Given the description of an element on the screen output the (x, y) to click on. 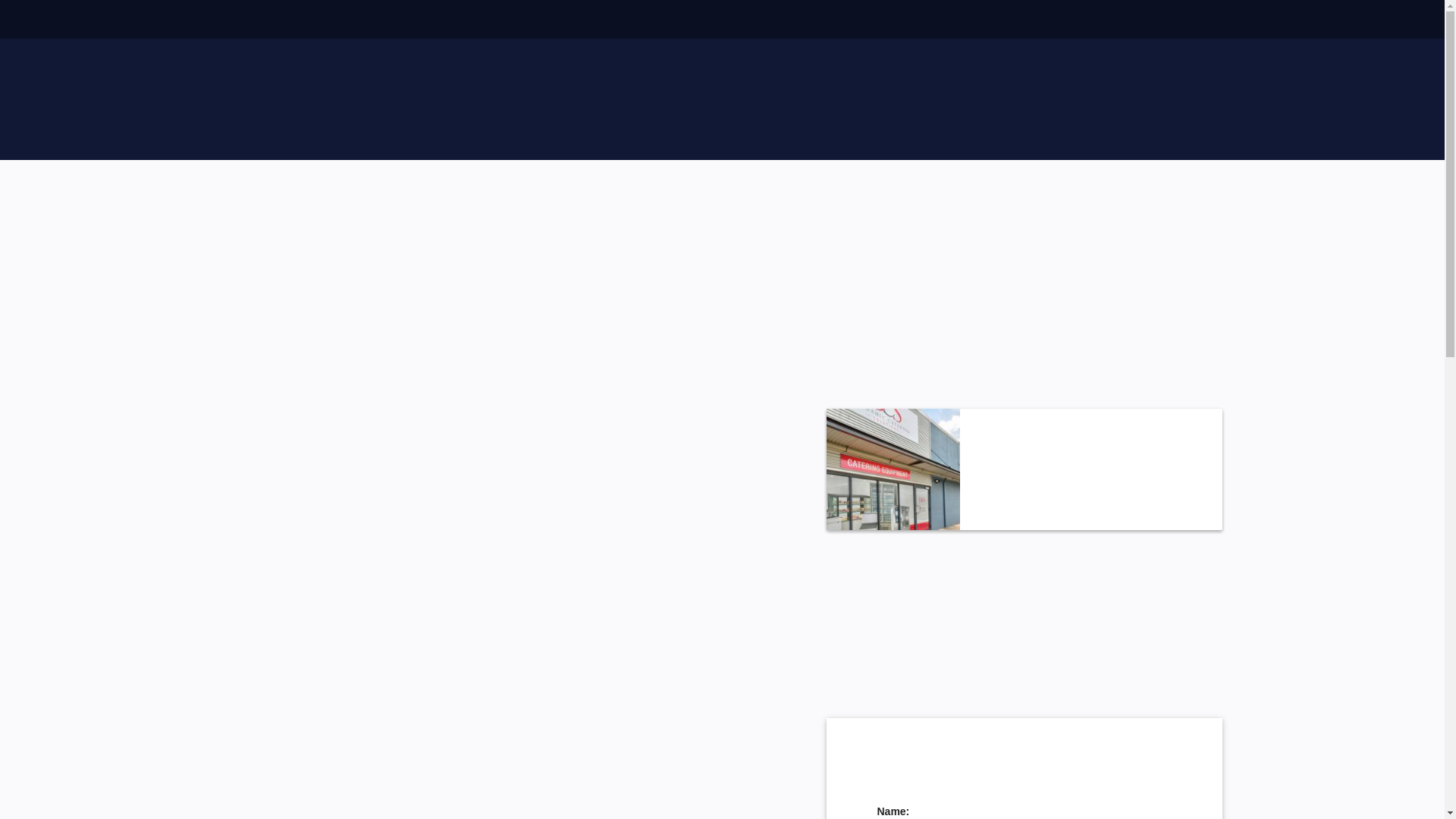
Get it in store Element type: hover (893, 469)
